Given the description of an element on the screen output the (x, y) to click on. 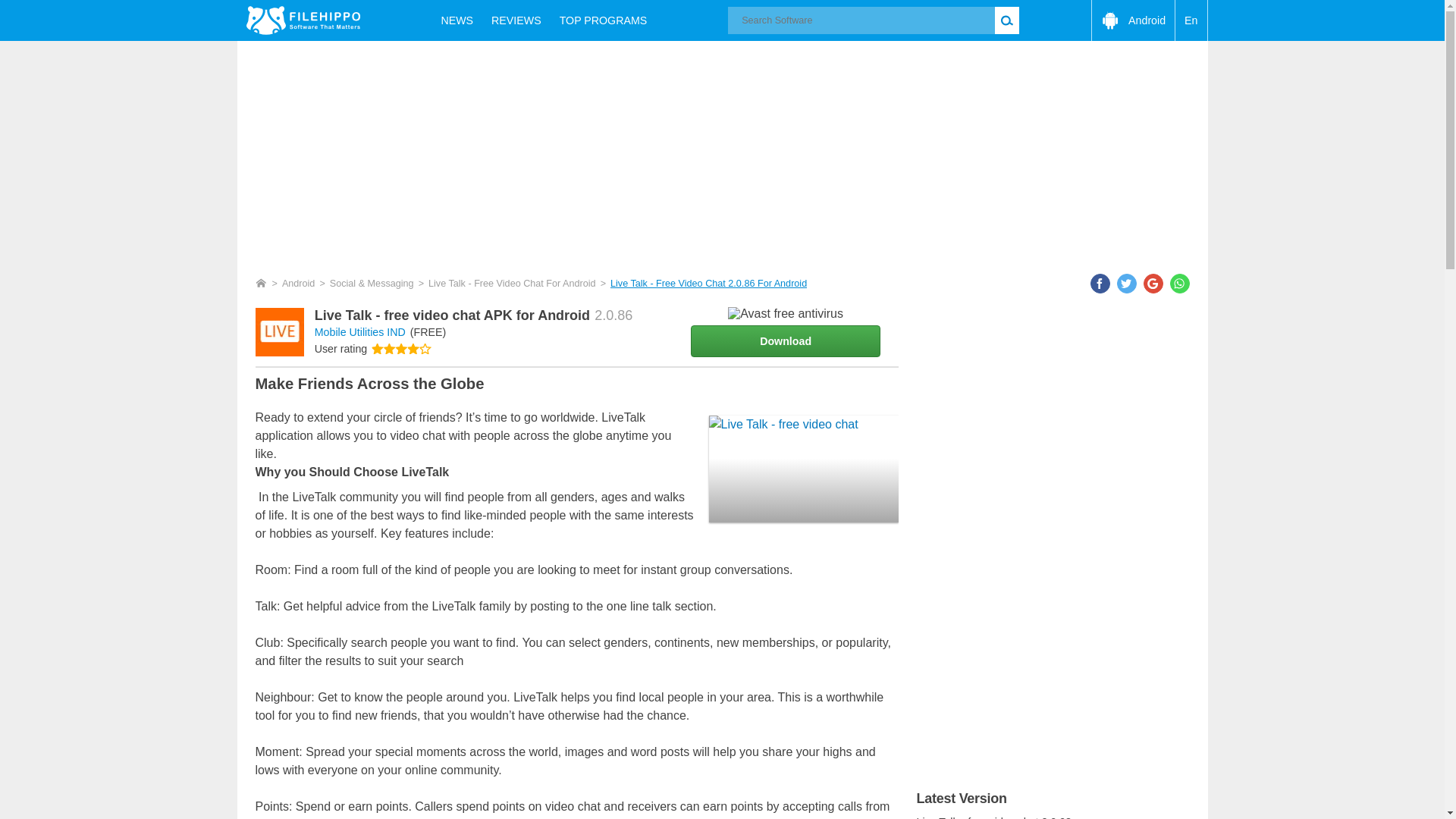
News (455, 20)
Live Talk - Free Video Chat For Android (511, 283)
REVIEWS (515, 20)
Reviews (515, 20)
Filehippo (302, 20)
NEWS (455, 20)
Android (1133, 20)
Android (298, 283)
Live Talk - Free Video Chat 2.0.86 For Android (708, 283)
Android (1133, 20)
TOP PROGRAMS (603, 20)
Top Programs (603, 20)
